Given the description of an element on the screen output the (x, y) to click on. 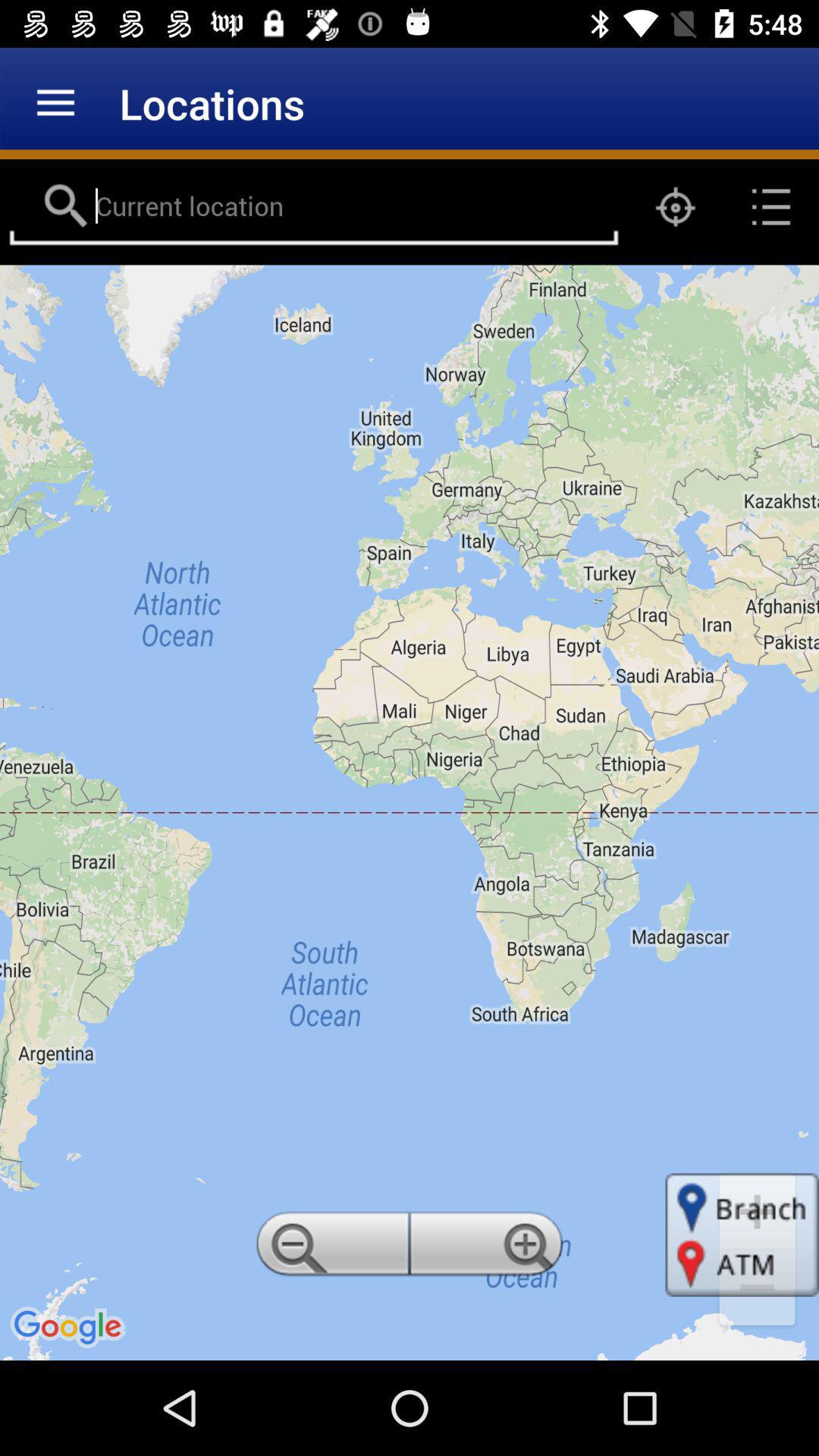
launch item next to the locations item (55, 103)
